Given the description of an element on the screen output the (x, y) to click on. 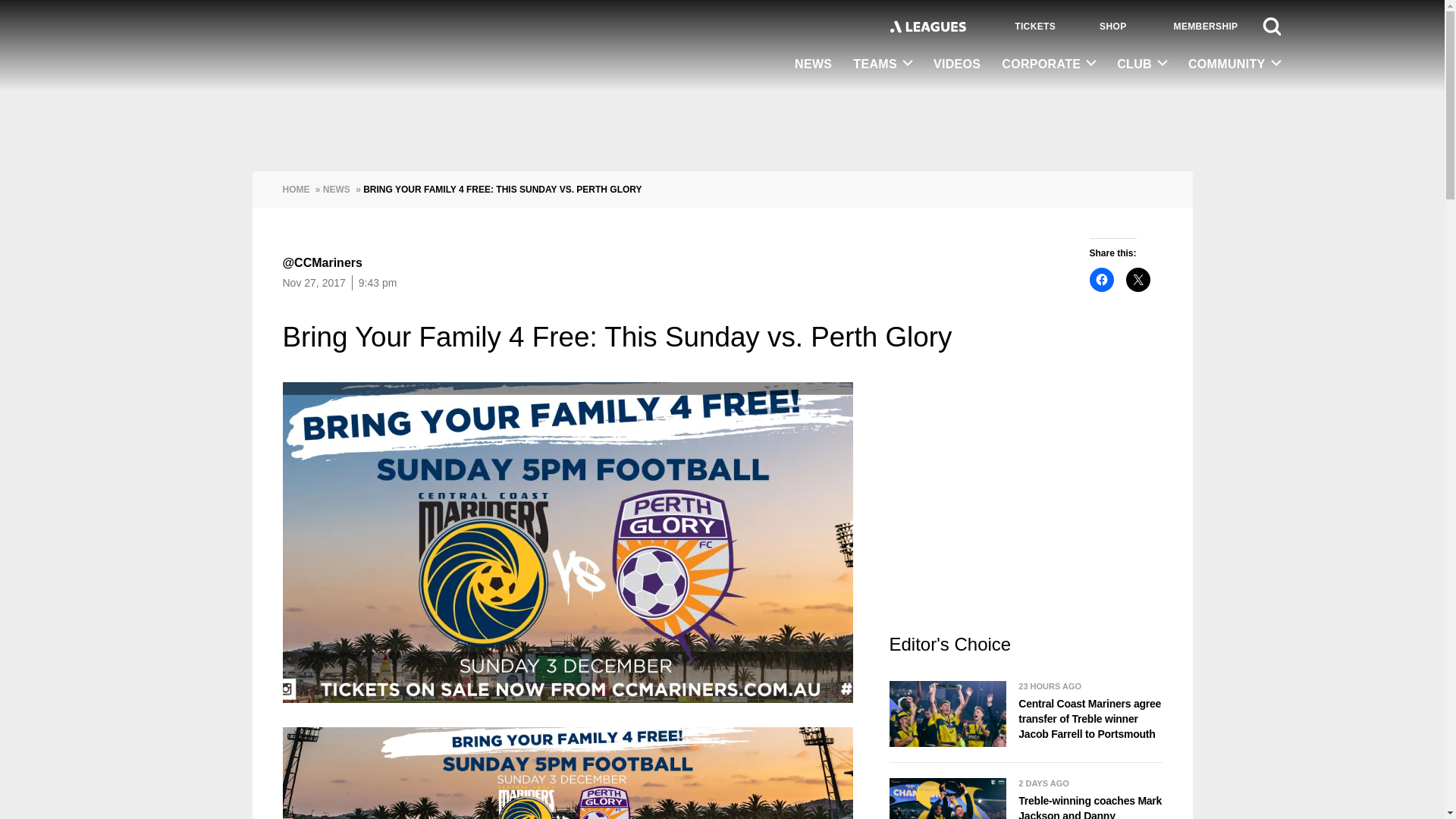
CORPORATE (1048, 64)
TEAMS (883, 64)
CLUB (1141, 64)
VIDEOS (957, 65)
NEWS (813, 65)
